Given the description of an element on the screen output the (x, y) to click on. 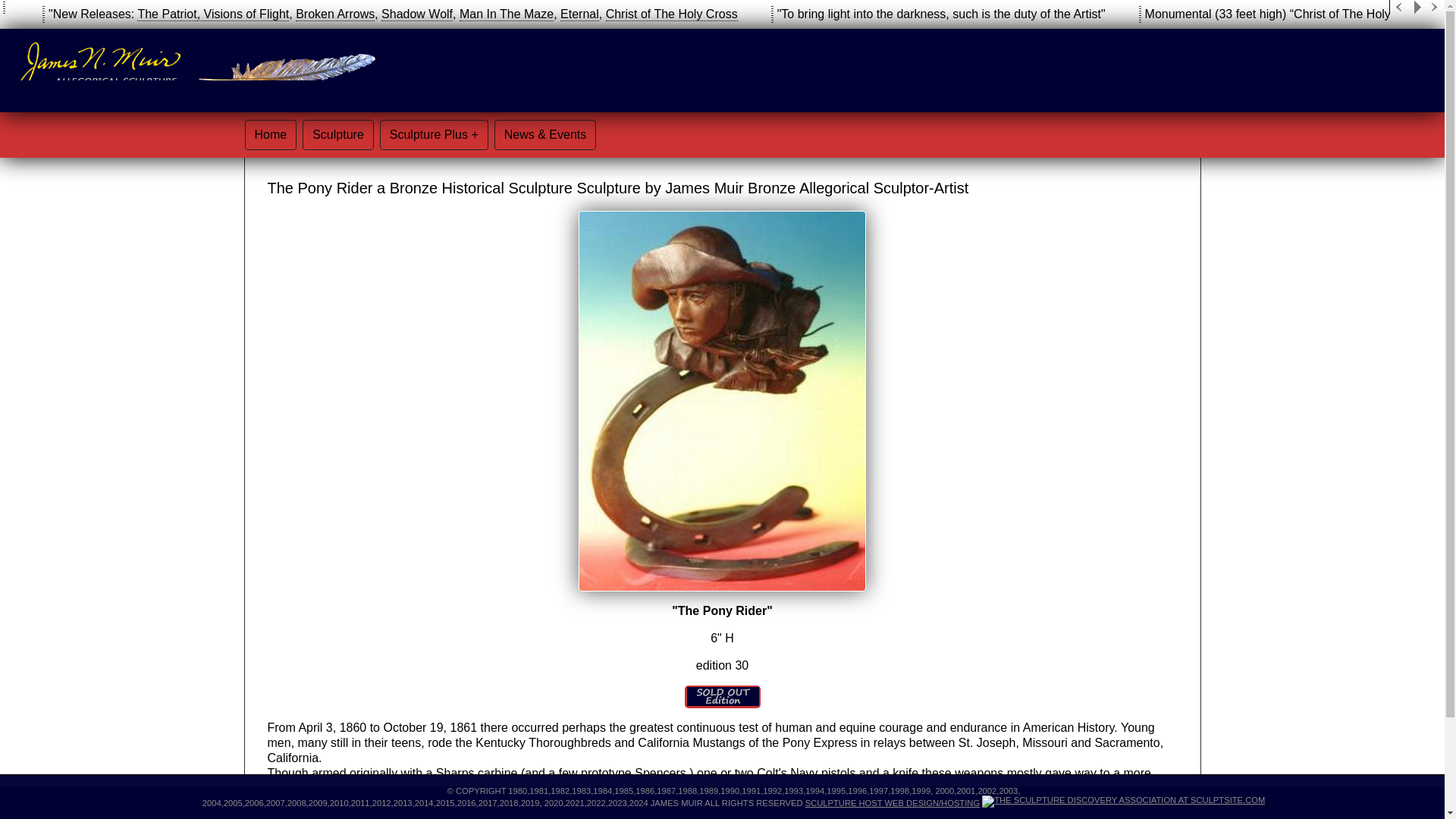
Play (1416, 7)
The Patriot (166, 14)
The Patriot by James Muir bronze sculptor (166, 14)
Eternal (579, 14)
, Visions of Flight (242, 14)
Next (1435, 7)
Previous (1398, 7)
Sculpture (338, 134)
Christ of The Holy Cross (671, 14)
Home (270, 134)
Broken Arrows (334, 14)
Man In The Maze (506, 14)
Shadow Wolf (416, 14)
